Given the description of an element on the screen output the (x, y) to click on. 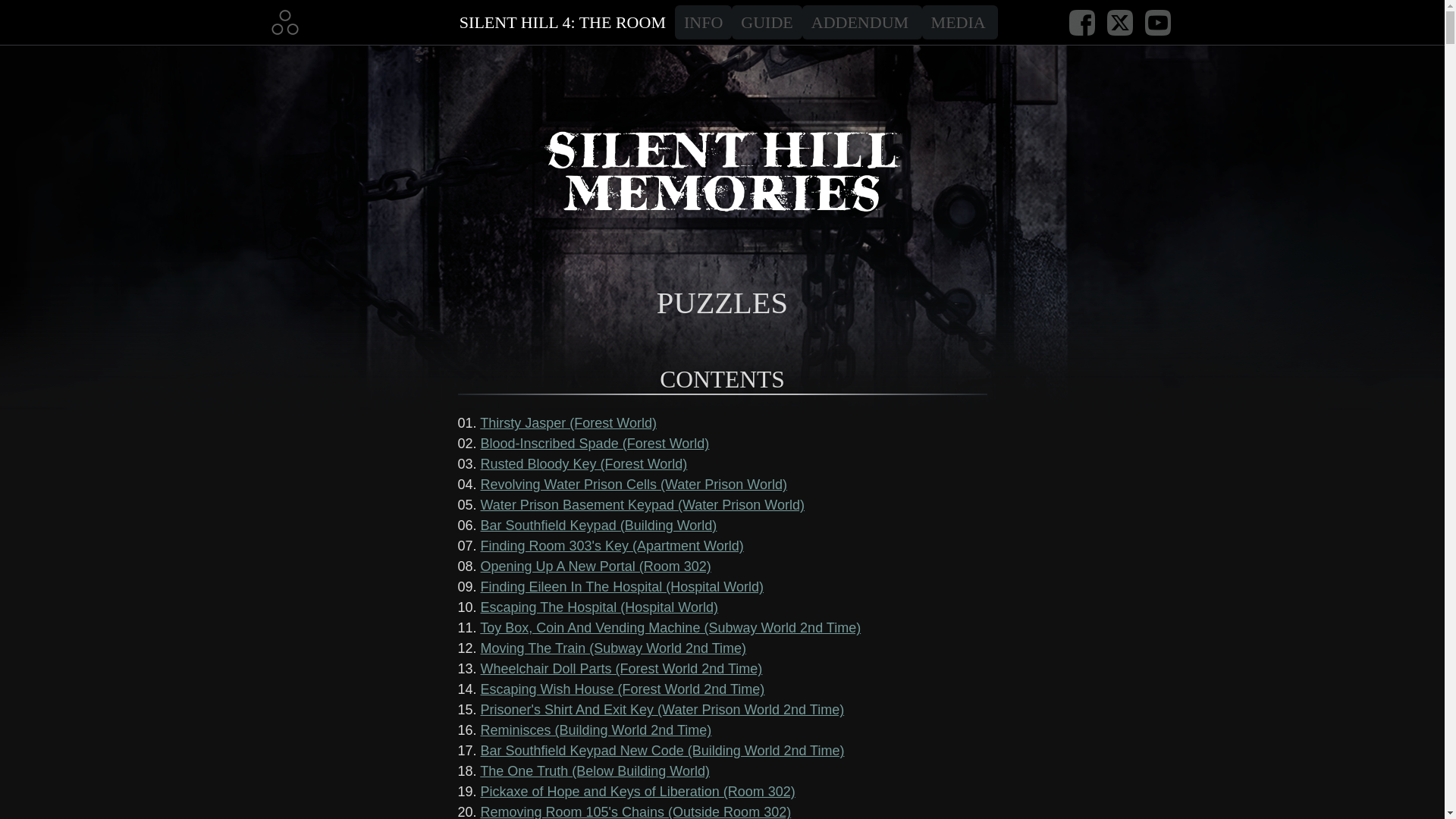
Home (283, 21)
GUIDE (767, 21)
ADDENDUM (861, 21)
MEDIA (959, 21)
YouTube (1157, 22)
X (1119, 22)
INFO (703, 21)
Facebook (1081, 22)
